Given the description of an element on the screen output the (x, y) to click on. 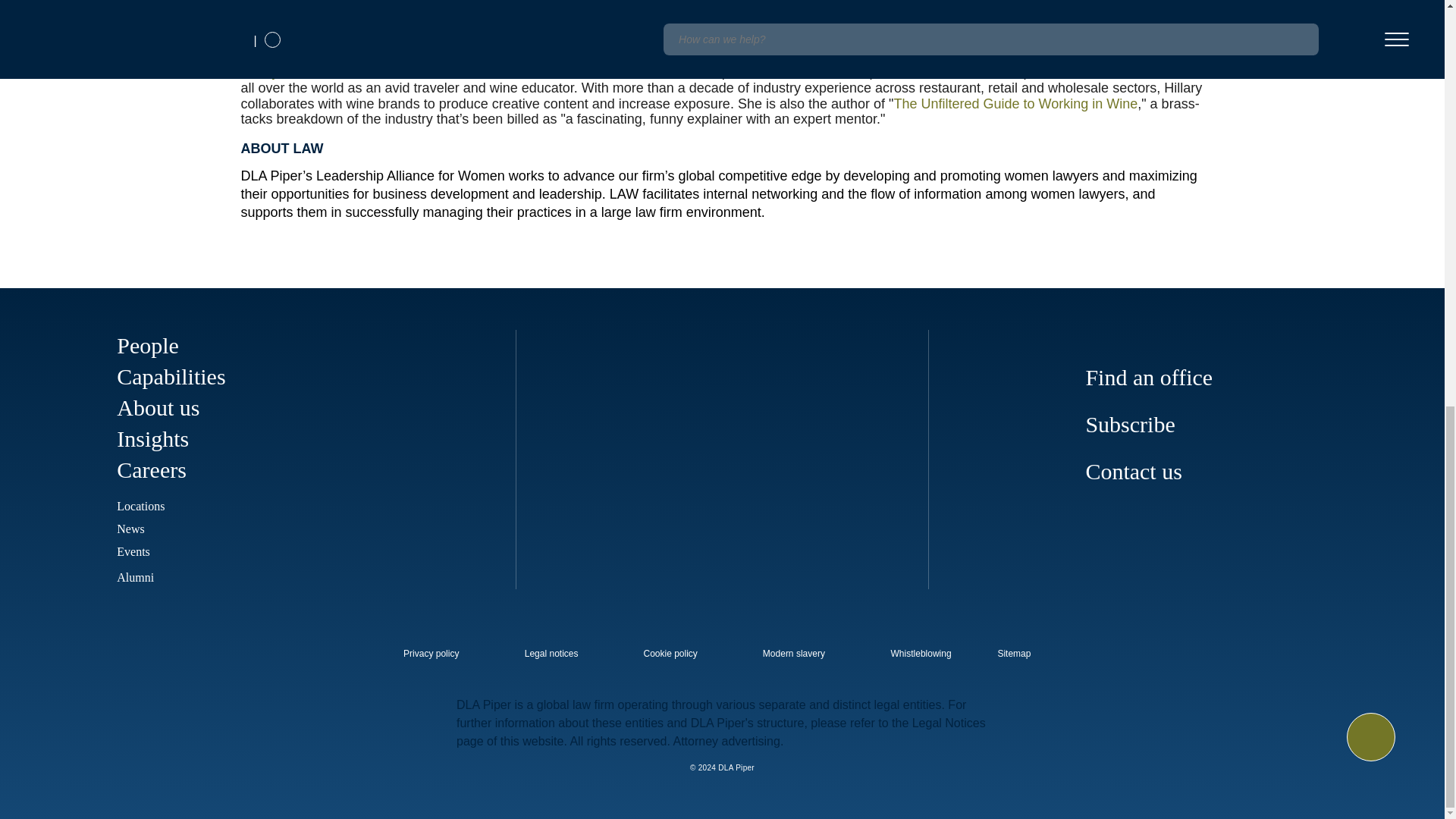
Insights (152, 438)
Locations (140, 505)
The Unfiltered Guide to Working in Wine (1015, 103)
Hillary (260, 71)
People (147, 344)
About us (157, 407)
internal (549, 653)
internal (920, 653)
internal (793, 653)
Kat DiCaprio (375, 15)
internal (430, 653)
Capabilities (170, 376)
Alumni (146, 576)
Events (132, 551)
internal (670, 653)
